Given the description of an element on the screen output the (x, y) to click on. 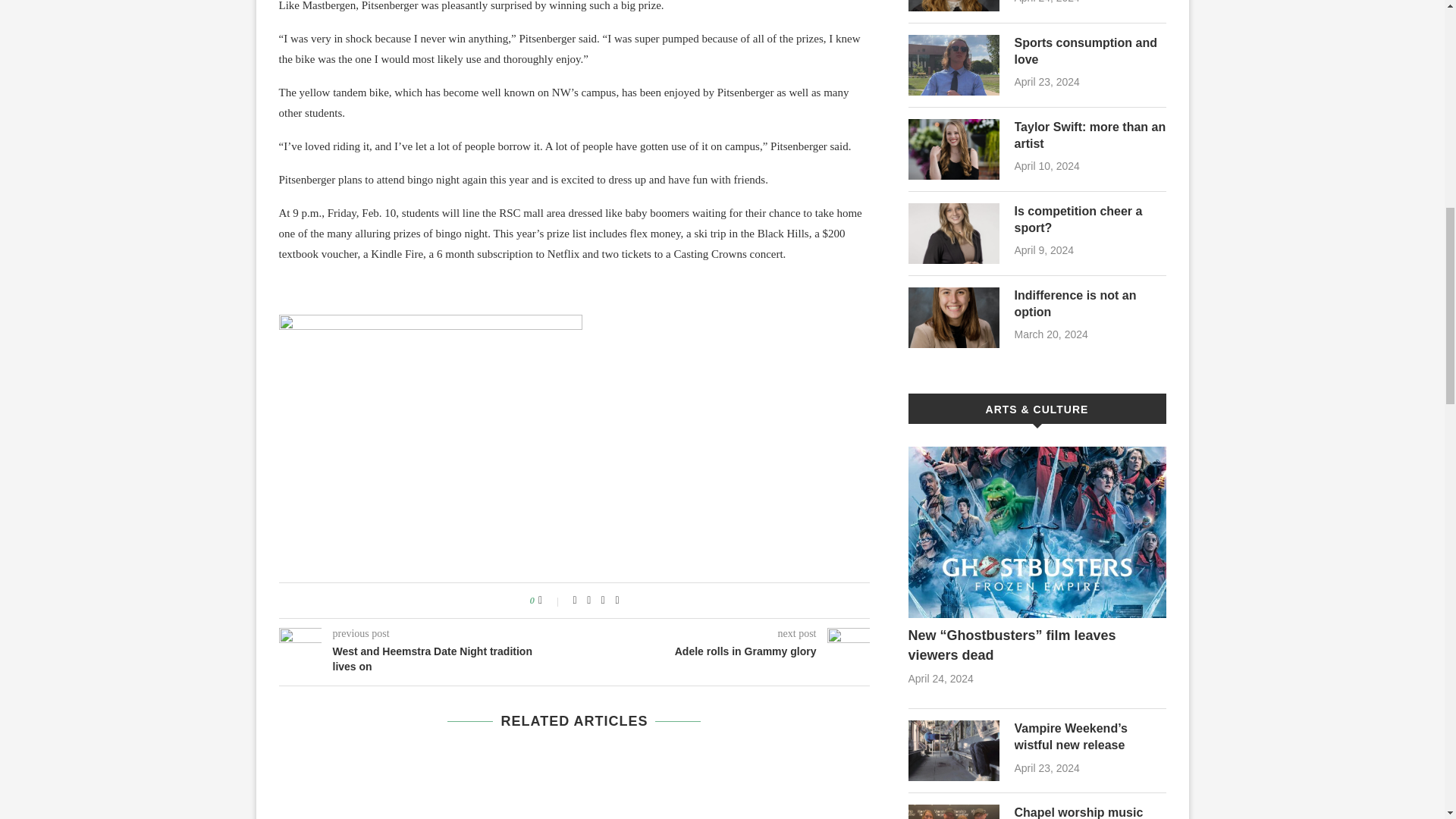
Sports consumption and love (1090, 51)
Christians have no enemies (953, 5)
Janet and bike (430, 428)
Taylor Swift: more than an artist (953, 148)
Like (550, 600)
Adele rolls in Grammy glory (722, 652)
Is competition cheer a sport? (953, 233)
Sports consumption and love (953, 65)
Is competition cheer a sport? (1090, 220)
Taylor Swift: more than an artist (1090, 135)
